Given the description of an element on the screen output the (x, y) to click on. 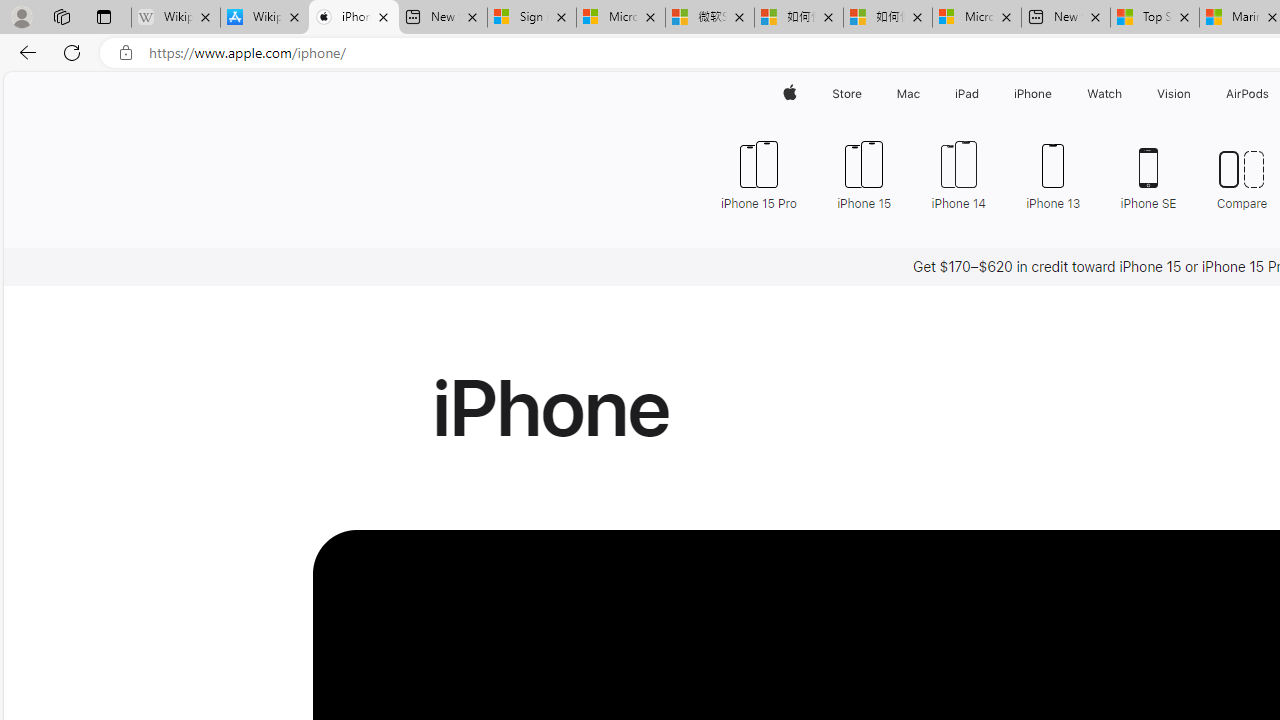
AirPods (1247, 93)
Mac (908, 93)
Vision (1174, 93)
Top Stories - MSN (1155, 17)
iPhone 15 (863, 173)
Store menu (864, 93)
Apple (789, 93)
iPhone menu (1055, 93)
AirPods (1247, 93)
iPad (965, 93)
